Given the description of an element on the screen output the (x, y) to click on. 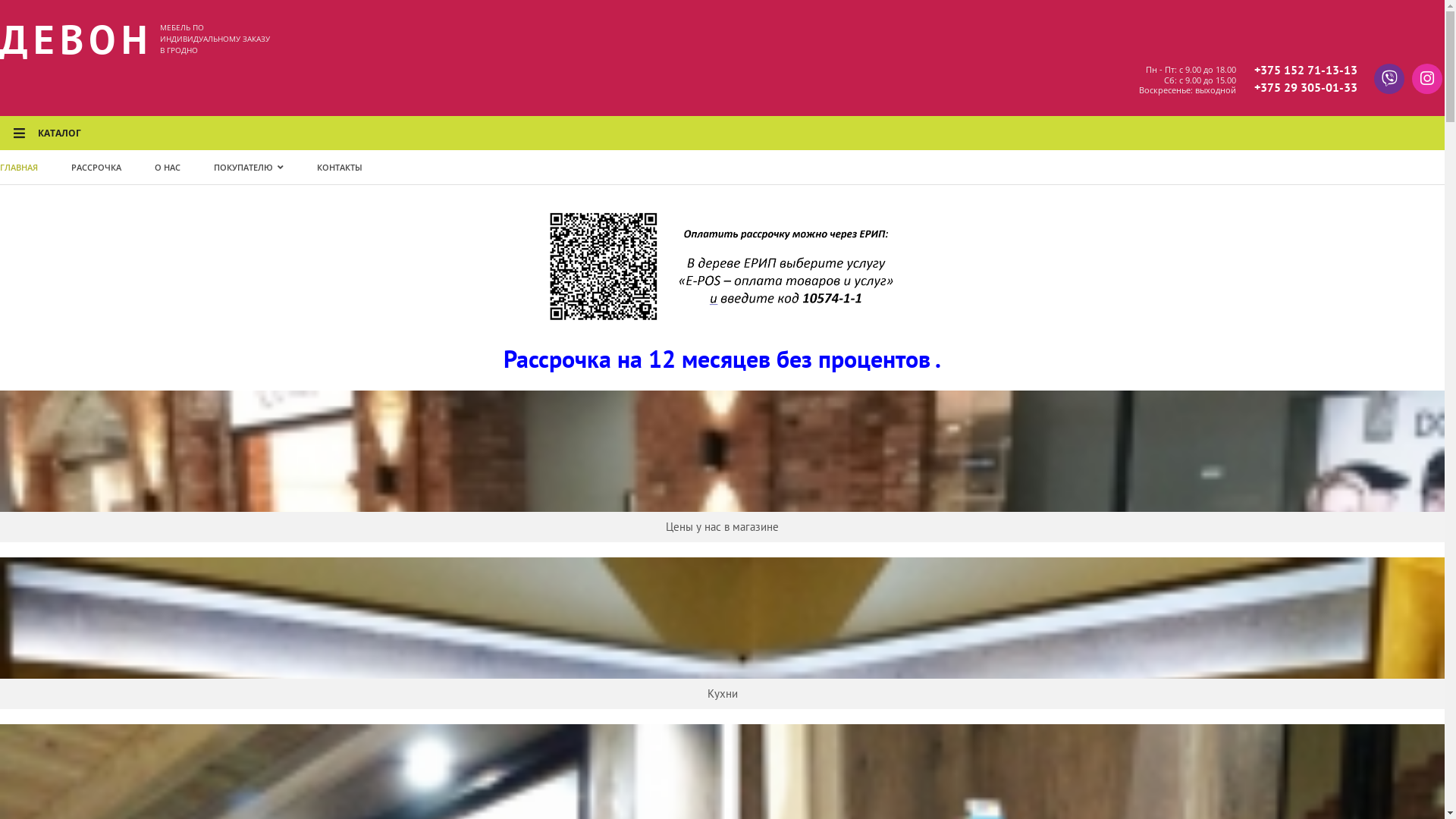
+375 152 71-13-13 Element type: text (1305, 70)
+375 29 305-01-33 Element type: text (1305, 87)
